Given the description of an element on the screen output the (x, y) to click on. 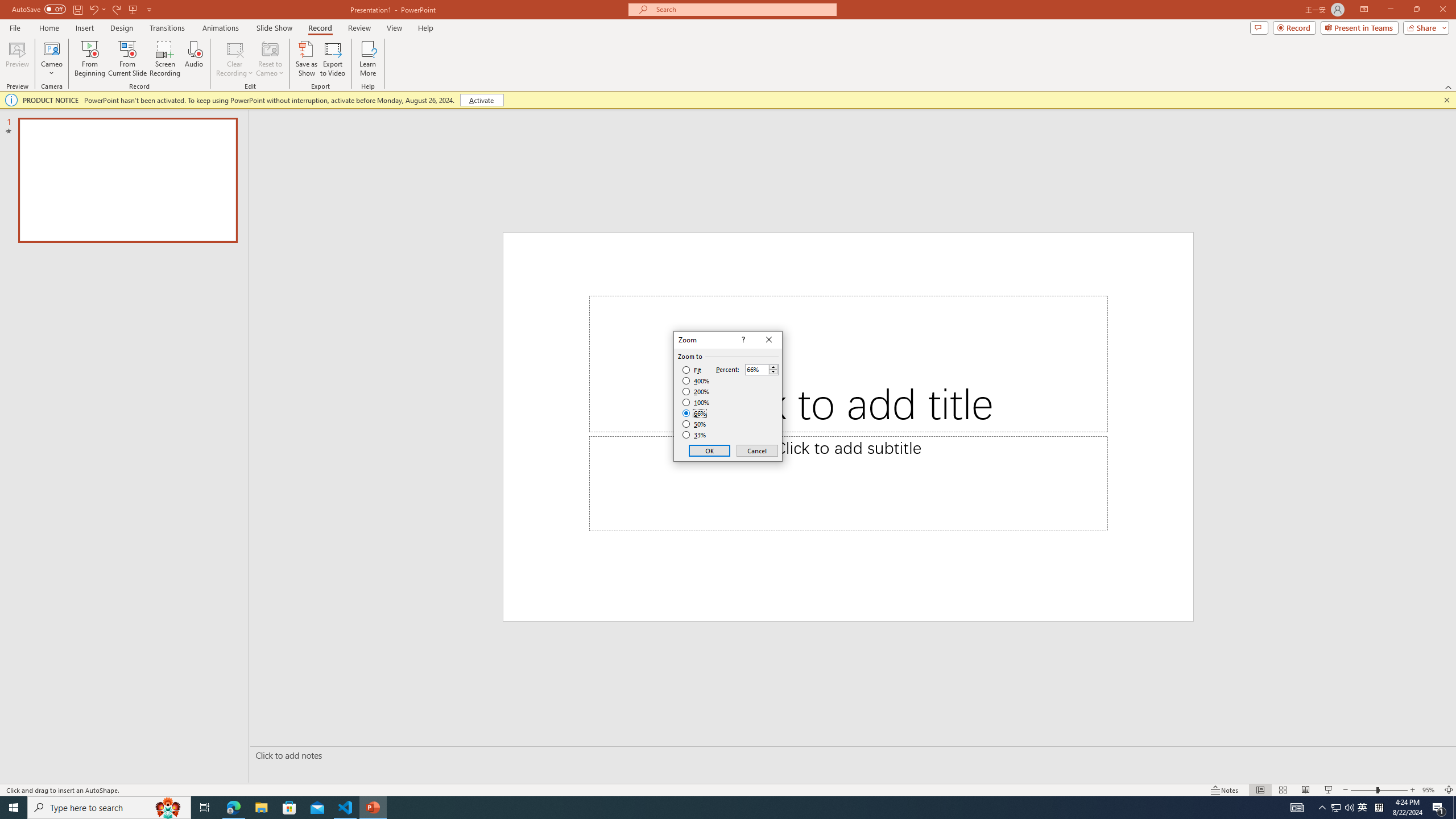
OK (709, 450)
200% (696, 391)
